Given the description of an element on the screen output the (x, y) to click on. 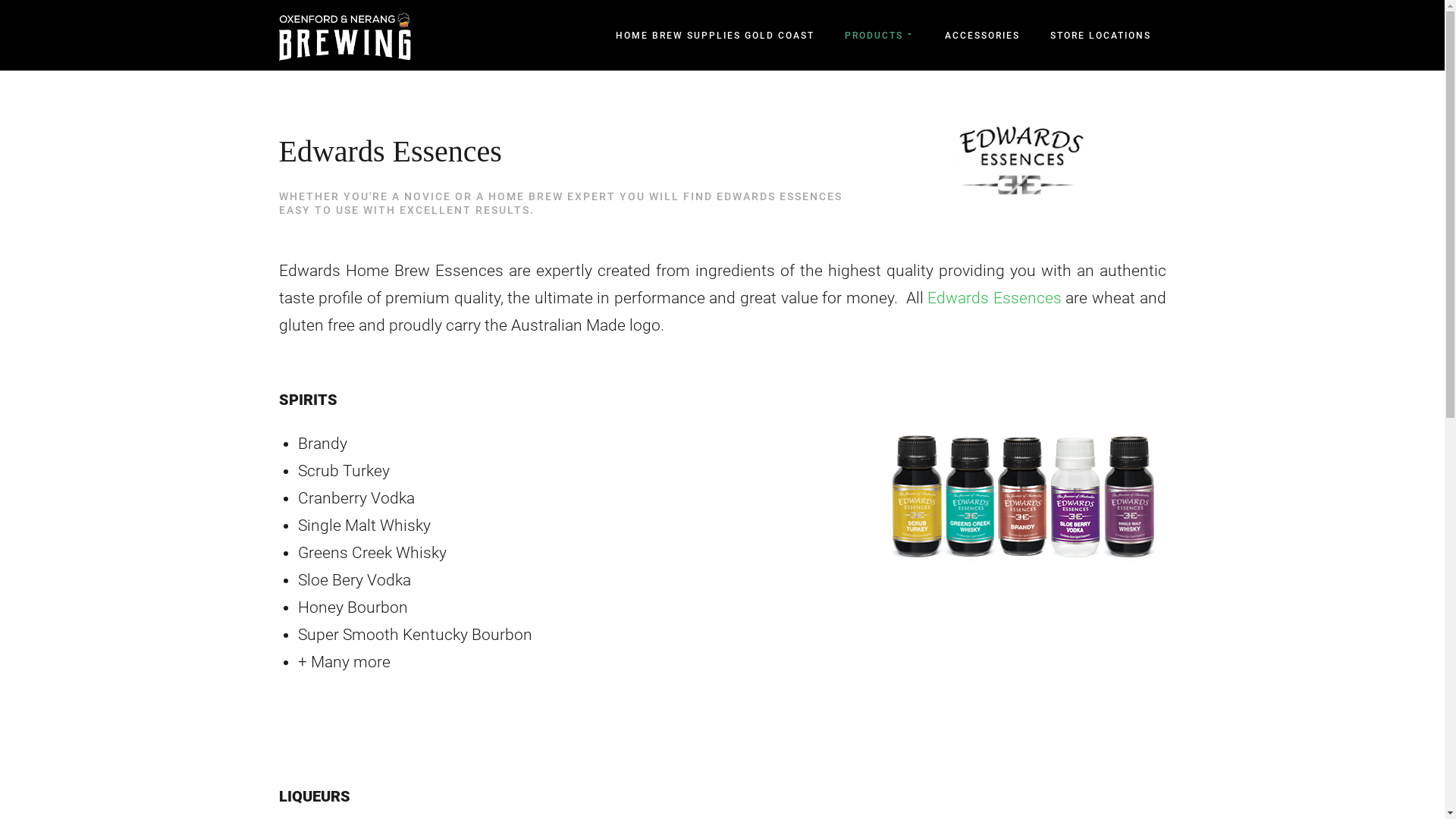
PRODUCTS Element type: text (879, 34)
STORE LOCATIONS Element type: text (1100, 35)
ACCESSORIES Element type: text (982, 35)
Edwards Essences Element type: text (994, 297)
HOME BREW SUPPLIES GOLD COAST Element type: text (714, 35)
